Given the description of an element on the screen output the (x, y) to click on. 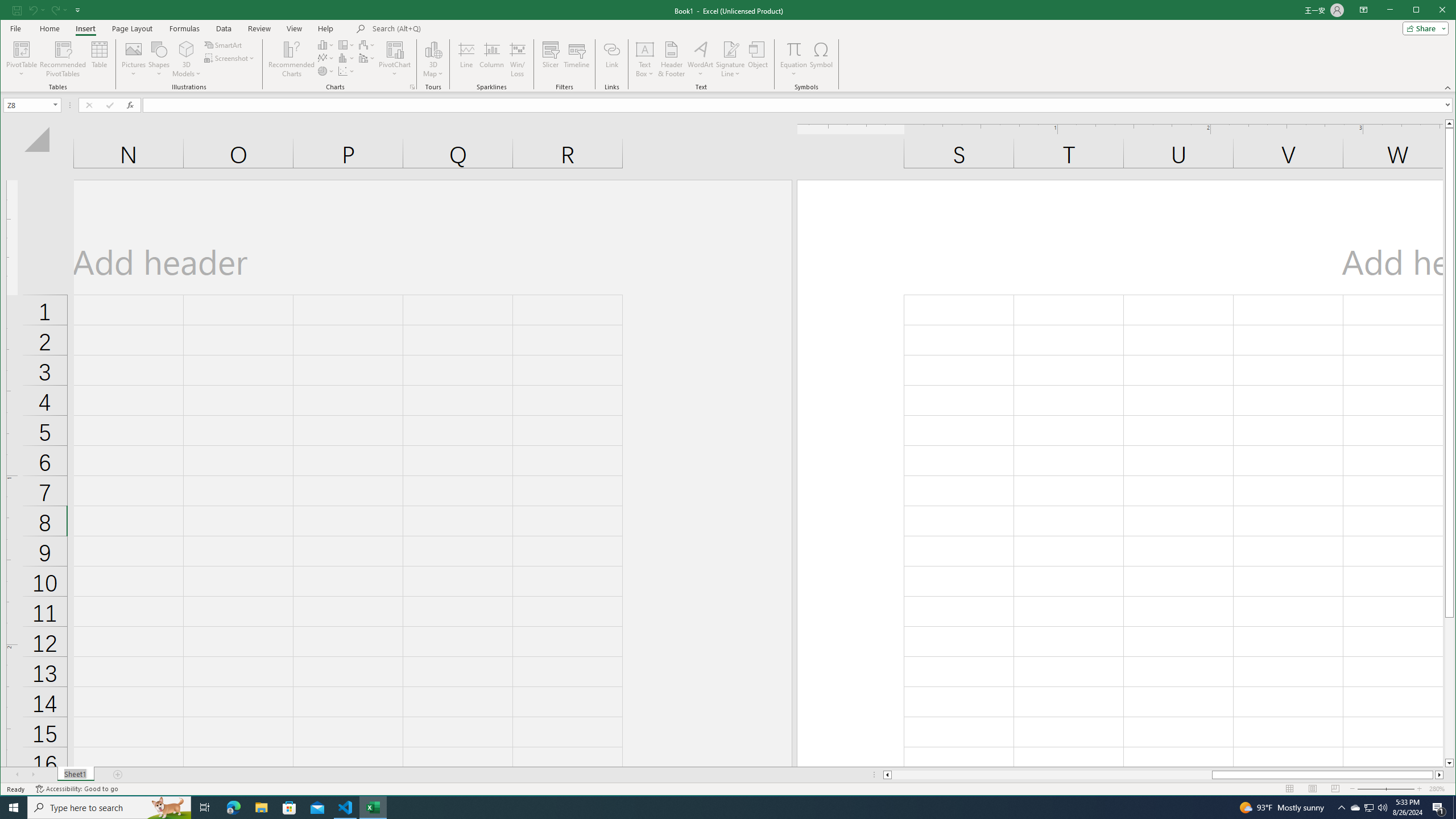
SmartArt... (224, 44)
Text Box (644, 59)
Insert Combo Chart (366, 57)
3D Models (186, 48)
